Given the description of an element on the screen output the (x, y) to click on. 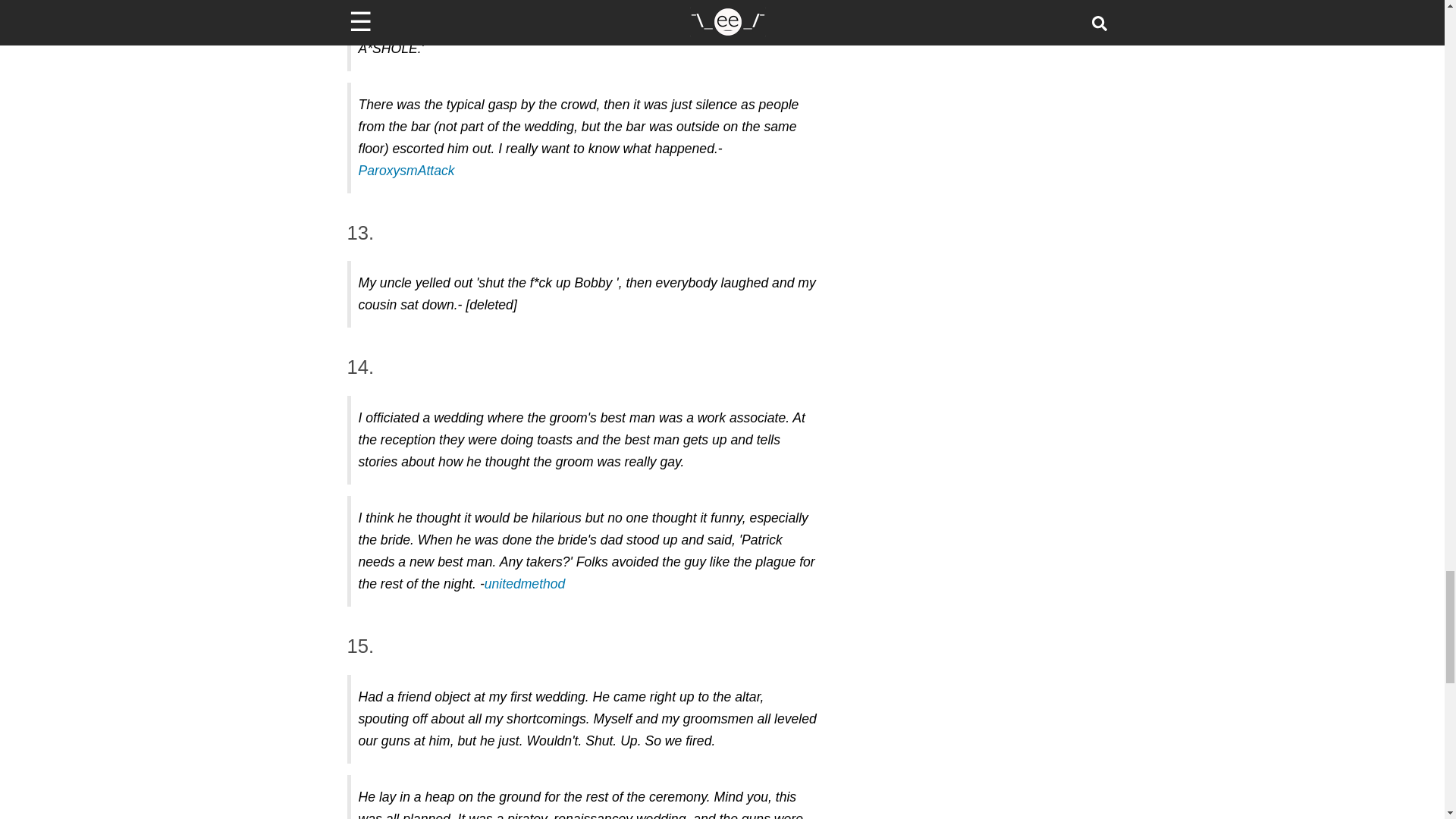
ParoxysmAttack (406, 170)
unitedmethod (525, 583)
